Given the description of an element on the screen output the (x, y) to click on. 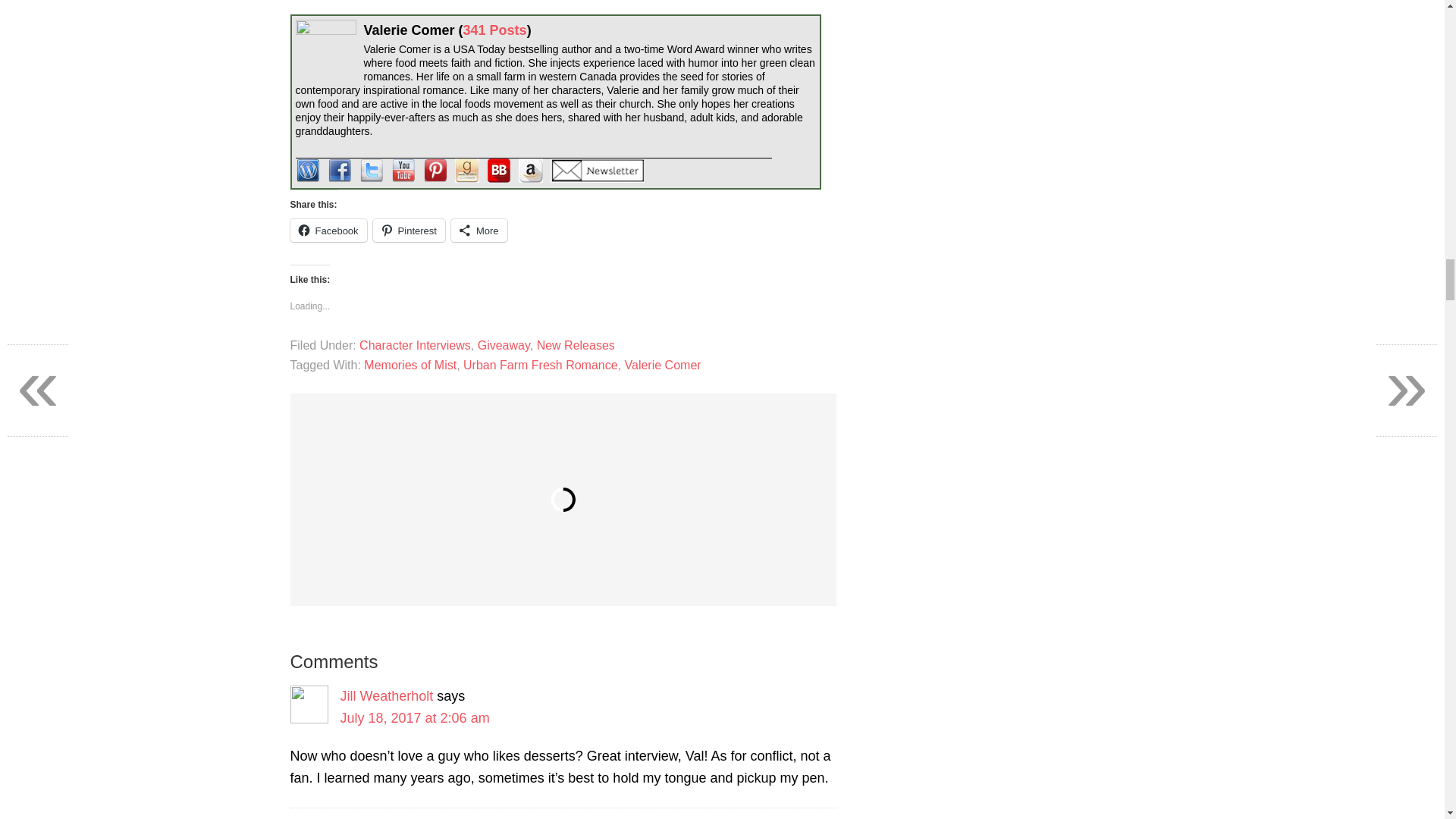
341 Posts (495, 29)
Valerie Comer (662, 364)
Character Interviews (414, 345)
Click to share on Pinterest (408, 230)
Click to share on Facebook (327, 230)
Giveaway (503, 345)
Facebook (327, 230)
Memories of Mist (410, 364)
New Releases (575, 345)
More (478, 230)
